Given the description of an element on the screen output the (x, y) to click on. 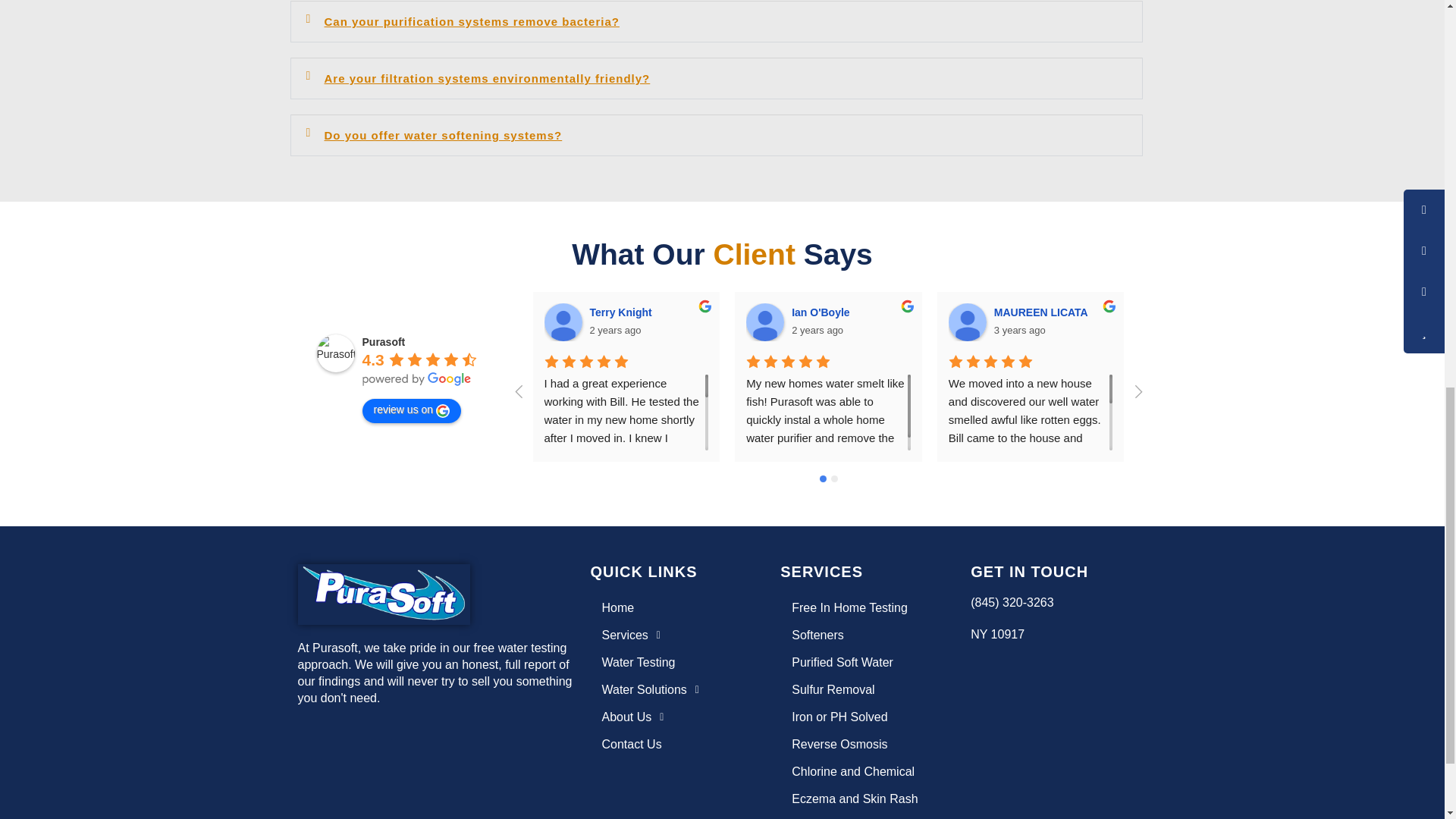
Do you offer water softening systems? (443, 134)
Amy Maier (1371, 322)
Michael Van Steyn (1169, 322)
review us on (411, 410)
Purasoft (384, 341)
Ian O'Boyle (764, 322)
Terry Knight (622, 312)
Are your filtration systems environmentally friendly? (487, 78)
powered by Google (416, 378)
Terry Knight (563, 322)
Can your purification systems remove bacteria? (472, 21)
MAUREEN LICATA (968, 322)
Purasoft (336, 353)
